Given the description of an element on the screen output the (x, y) to click on. 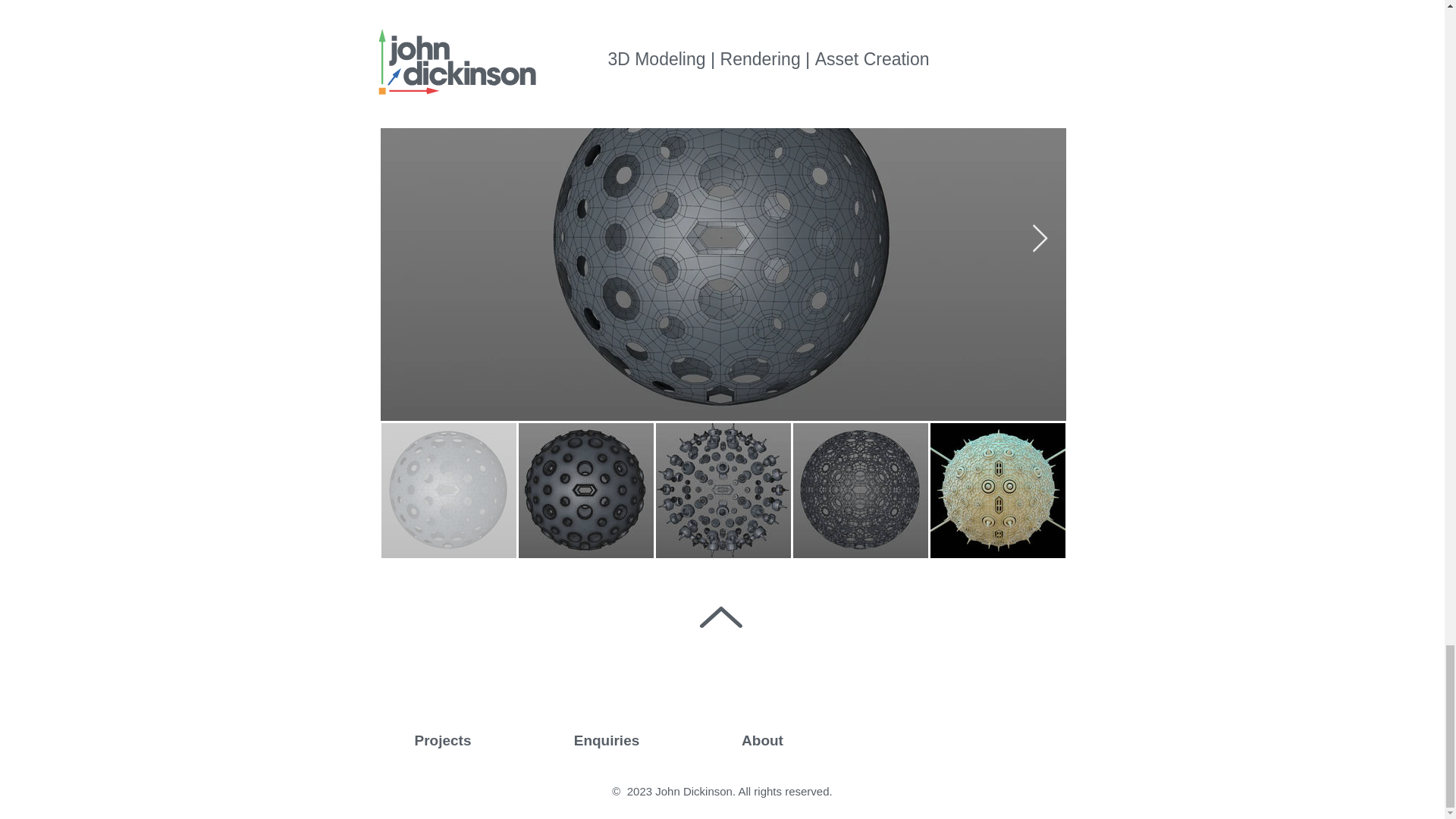
About (762, 740)
Enquiries (605, 740)
Projects (442, 740)
